Given the description of an element on the screen output the (x, y) to click on. 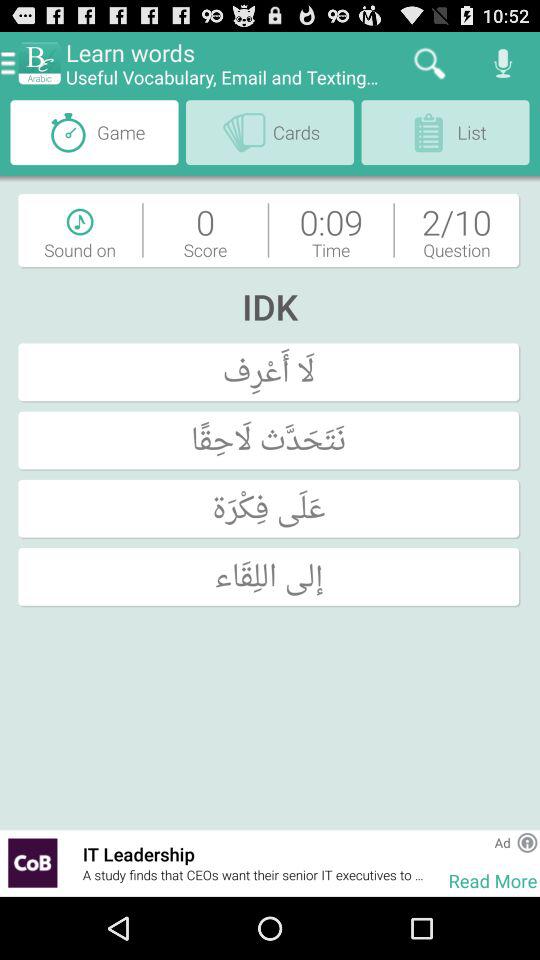
open advertisement (32, 862)
